Given the description of an element on the screen output the (x, y) to click on. 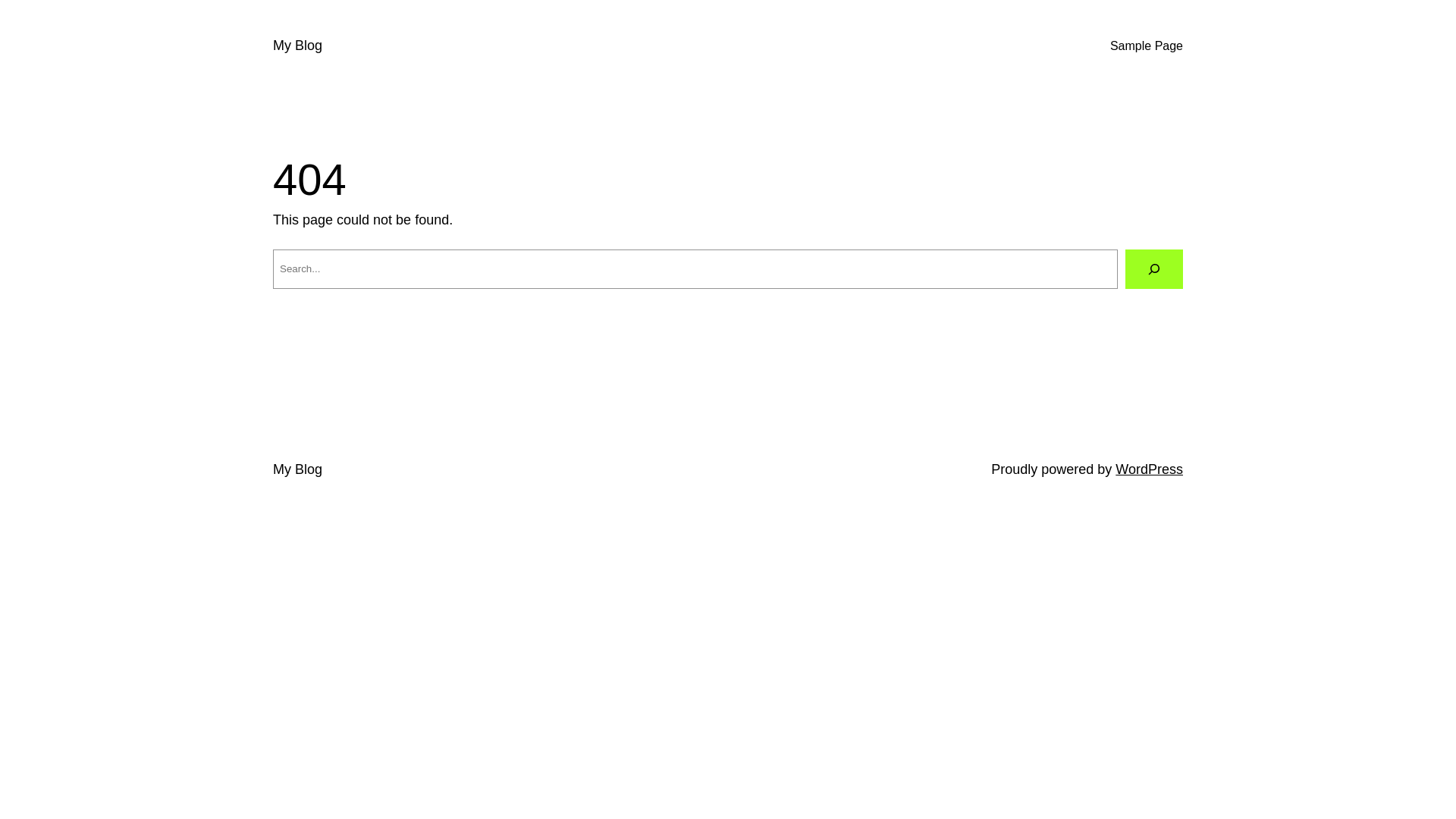
My Blog Element type: text (297, 45)
My Blog Element type: text (297, 468)
WordPress Element type: text (1149, 468)
Sample Page Element type: text (1146, 46)
